Given the description of an element on the screen output the (x, y) to click on. 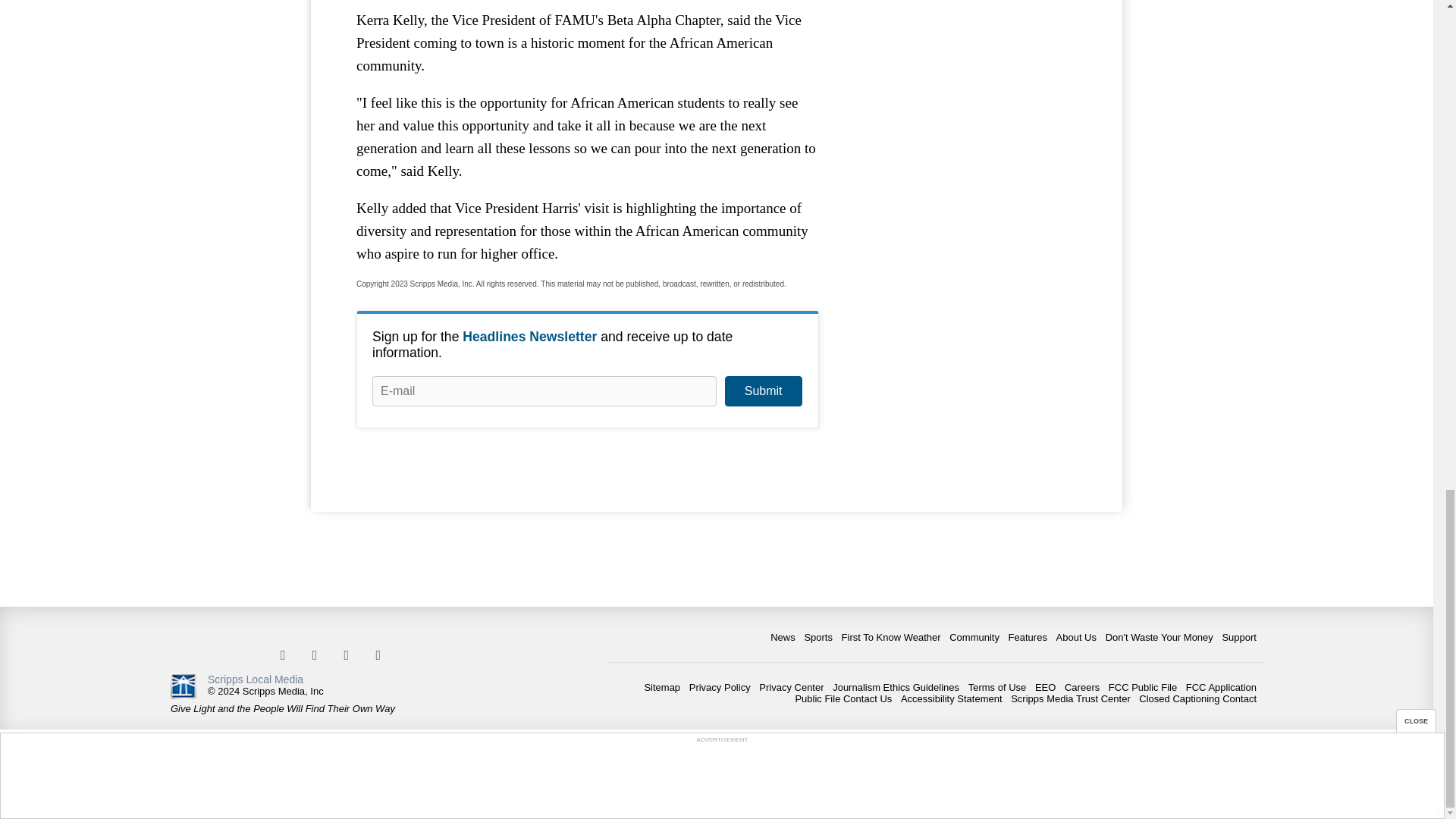
Submit (763, 390)
